Given the description of an element on the screen output the (x, y) to click on. 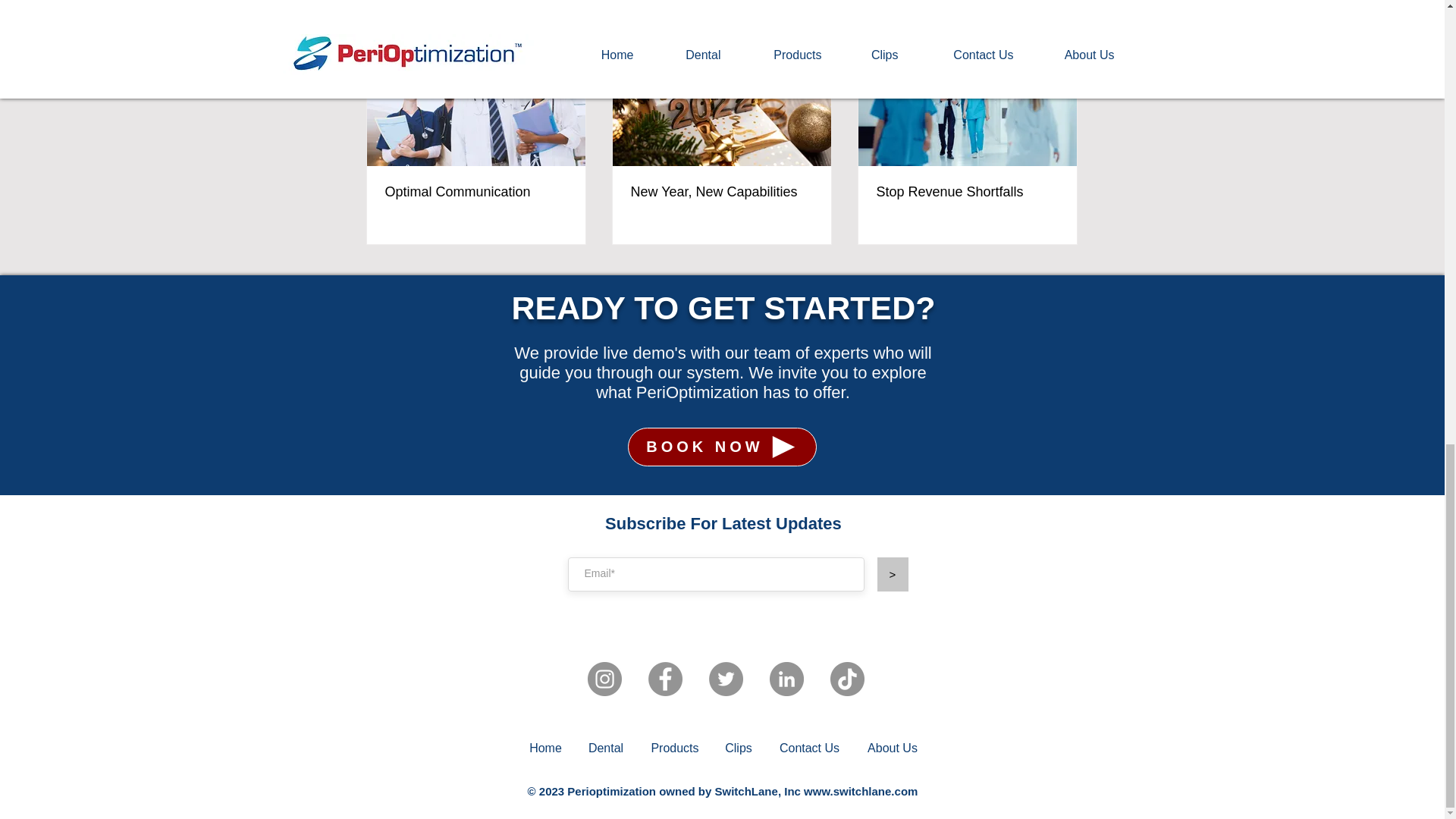
Products (675, 748)
Dental (606, 748)
New Year, New Capabilities (721, 191)
Home (545, 748)
Optimal Communication (476, 191)
BOOK NOW (721, 446)
Stop Revenue Shortfalls (967, 191)
See All (1061, 15)
